Given the description of an element on the screen output the (x, y) to click on. 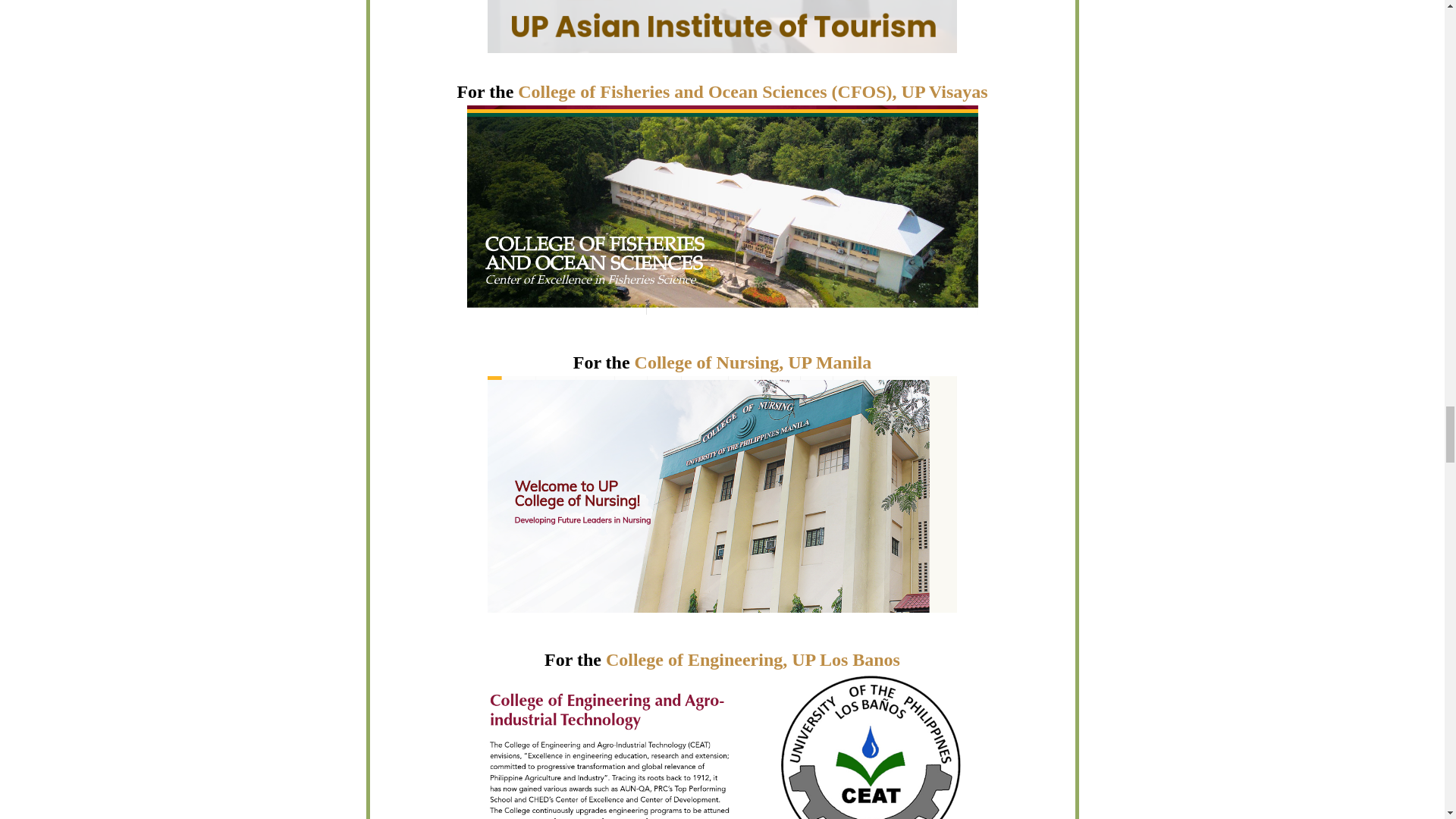
College of Nursing, UP Manila (753, 362)
College of Engineering, UP Los Banos (752, 659)
